Given the description of an element on the screen output the (x, y) to click on. 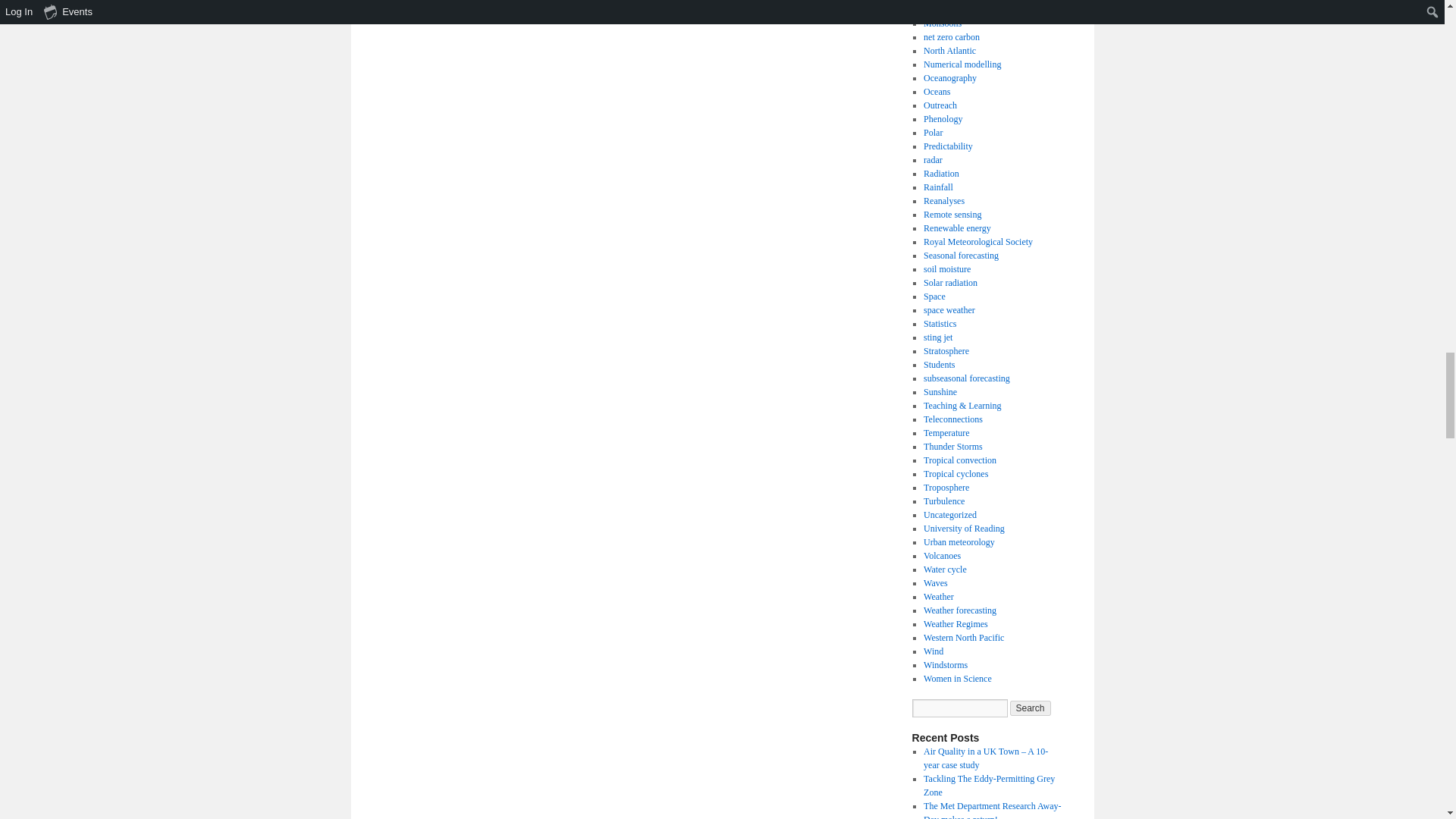
Search (1030, 708)
